Given the description of an element on the screen output the (x, y) to click on. 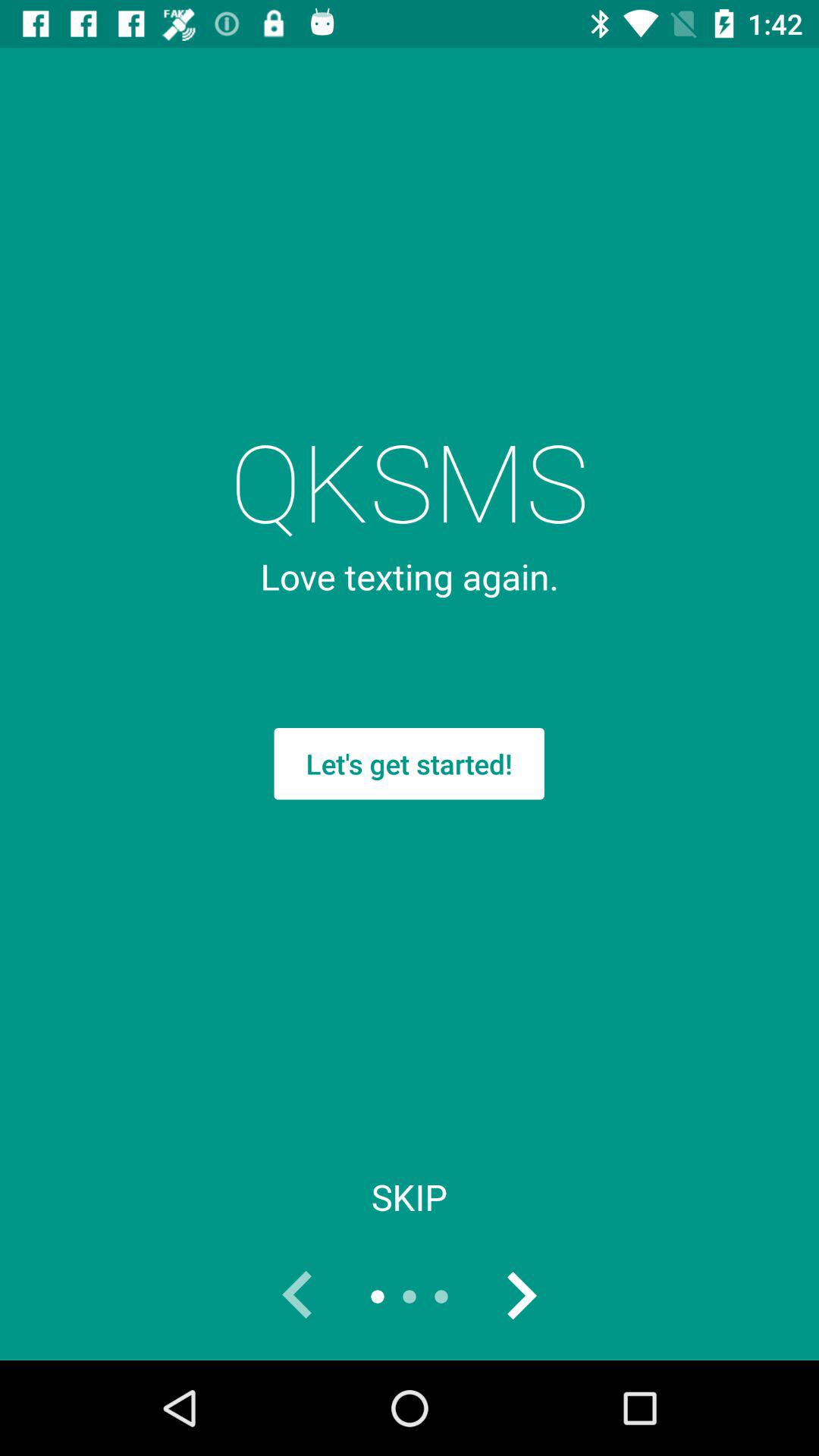
choose the icon below skip item (520, 1296)
